Given the description of an element on the screen output the (x, y) to click on. 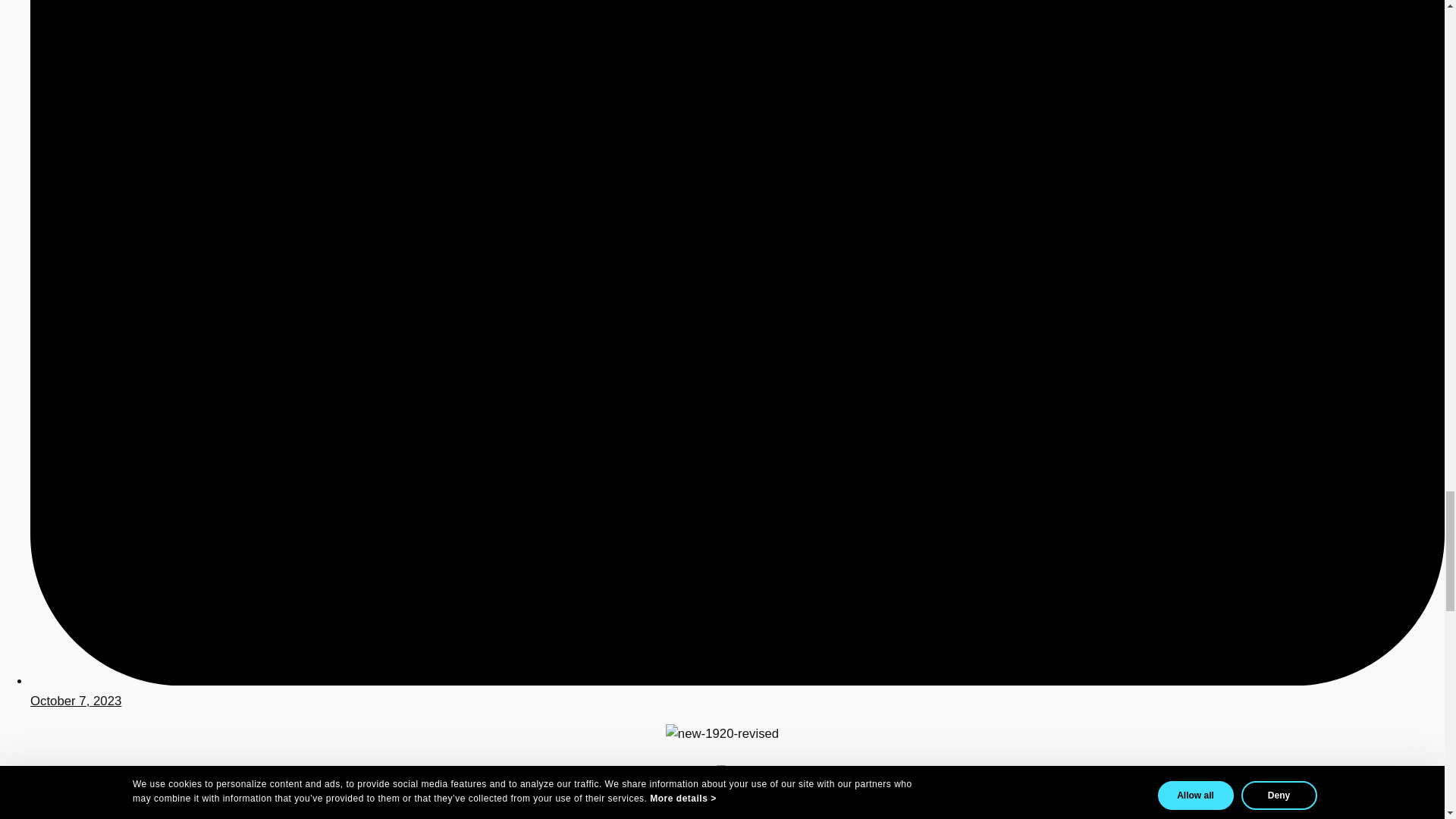
new-1920-revised (721, 733)
